Given the description of an element on the screen output the (x, y) to click on. 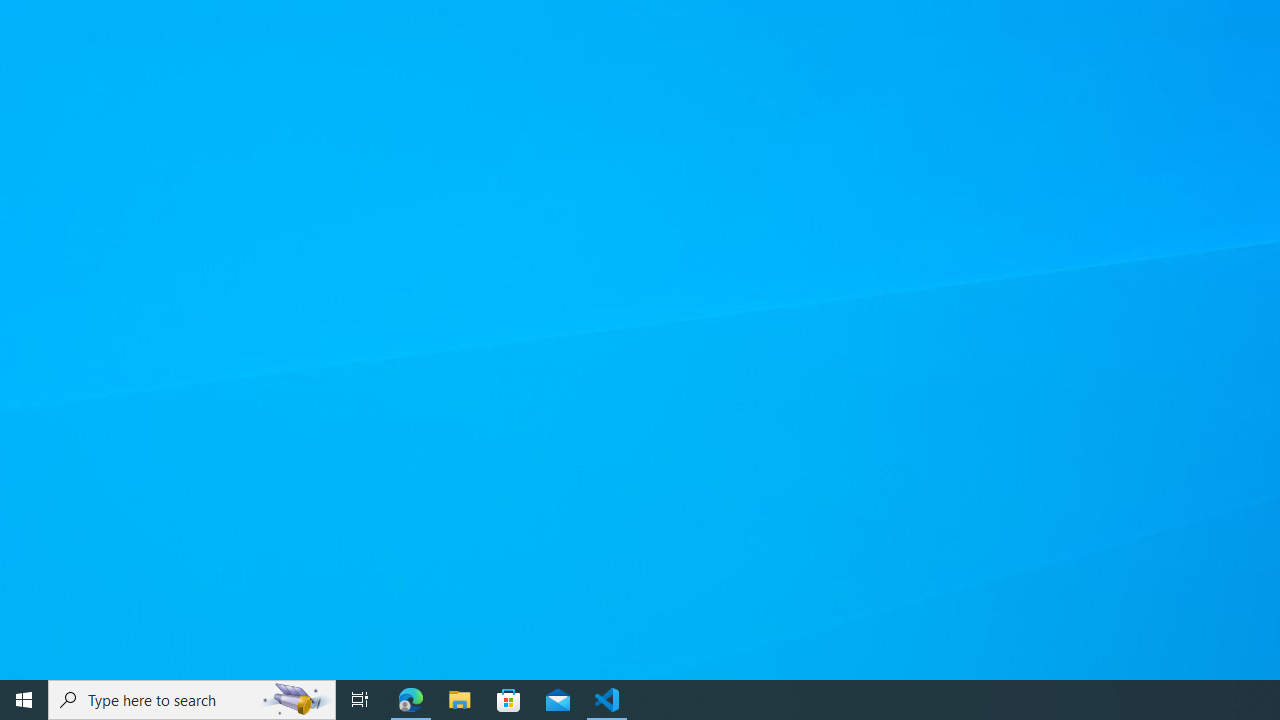
Microsoft Edge - 1 running window (411, 699)
File Explorer (460, 699)
Search highlights icon opens search home window (295, 699)
Task View (359, 699)
Start (24, 699)
Microsoft Store (509, 699)
Type here to search (191, 699)
Visual Studio Code - 1 running window (607, 699)
